Given the description of an element on the screen output the (x, y) to click on. 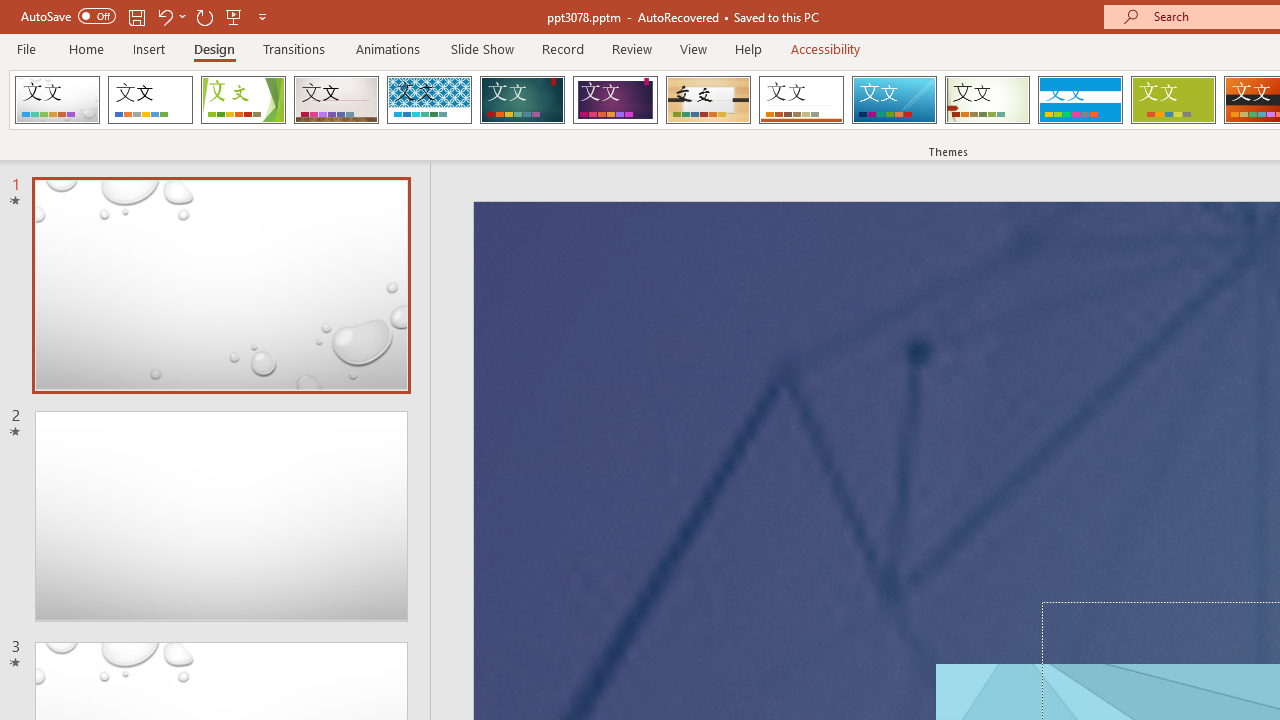
Ion Boardroom (615, 100)
Facet (243, 100)
